Given the description of an element on the screen output the (x, y) to click on. 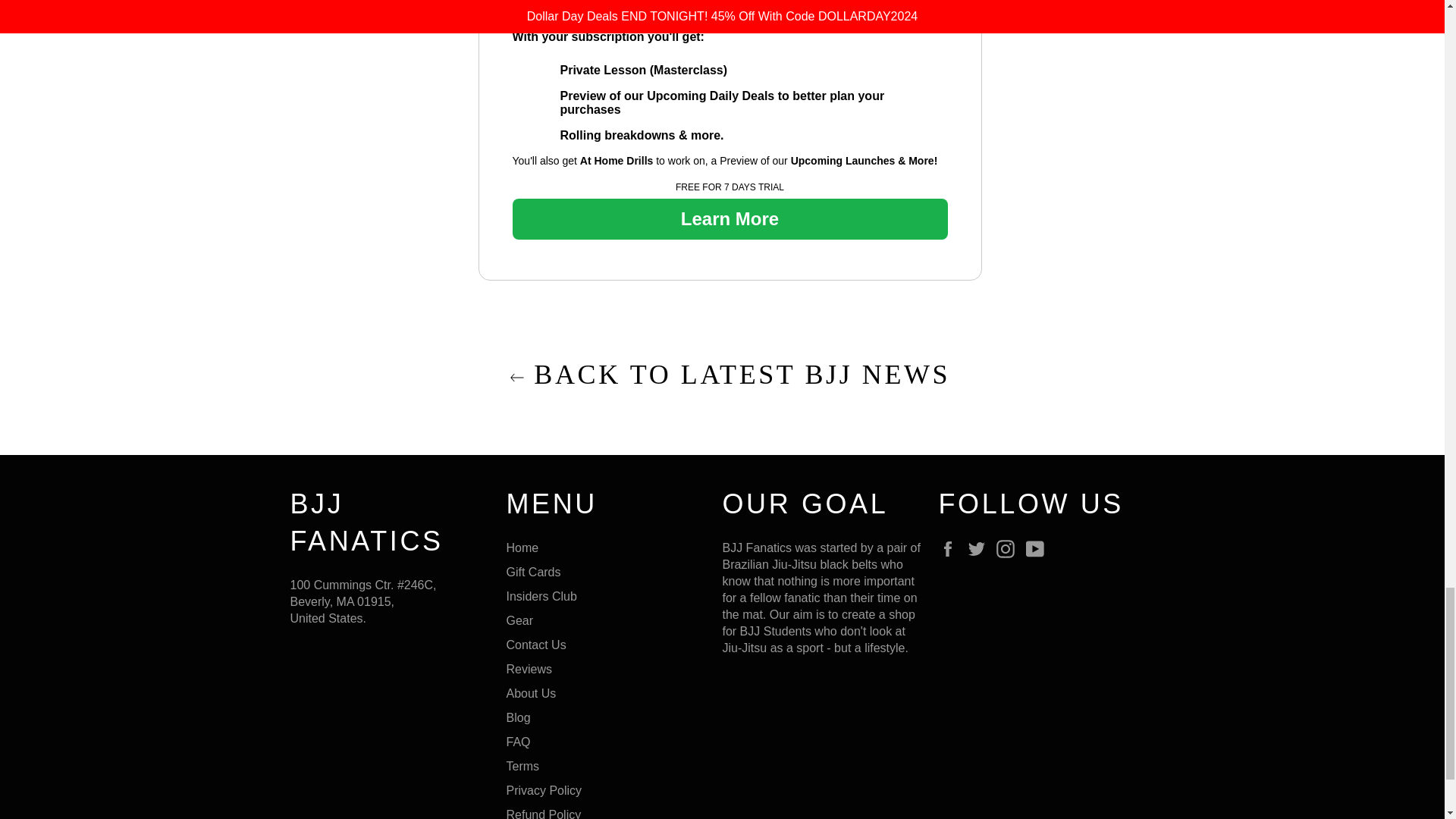
BJJ Fanatics on Twitter (980, 548)
BJJ Fanatics on Instagram (1008, 548)
BJJ Fanatics on Facebook (951, 548)
BJJ Fanatics on YouTube (1038, 548)
